Given the description of an element on the screen output the (x, y) to click on. 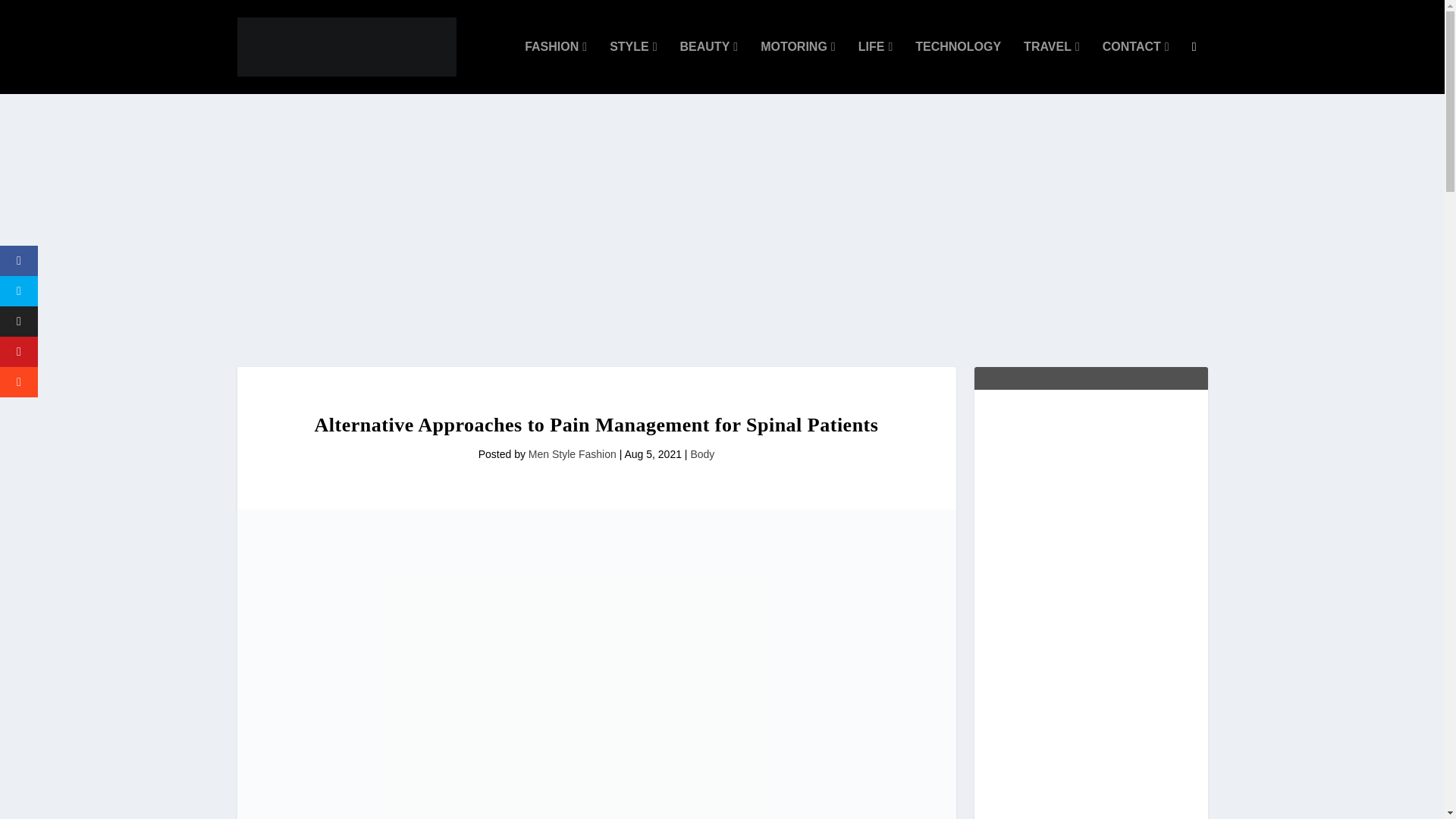
MOTORING (797, 67)
FASHION (555, 67)
Posts by Men Style Fashion (571, 453)
BEAUTY (708, 67)
